Given the description of an element on the screen output the (x, y) to click on. 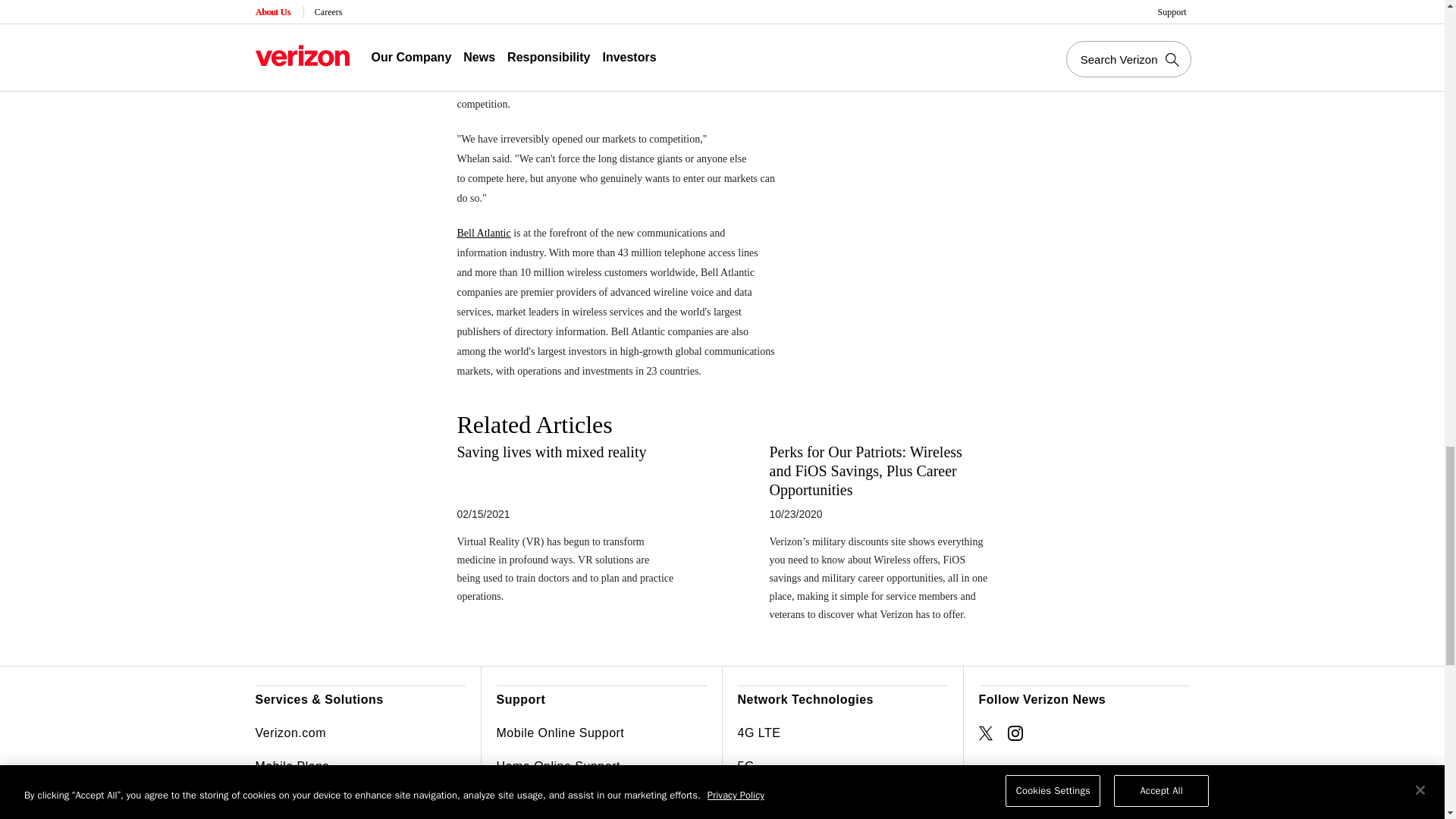
Opens New Window (1014, 733)
Opens New Window (985, 733)
